Given the description of an element on the screen output the (x, y) to click on. 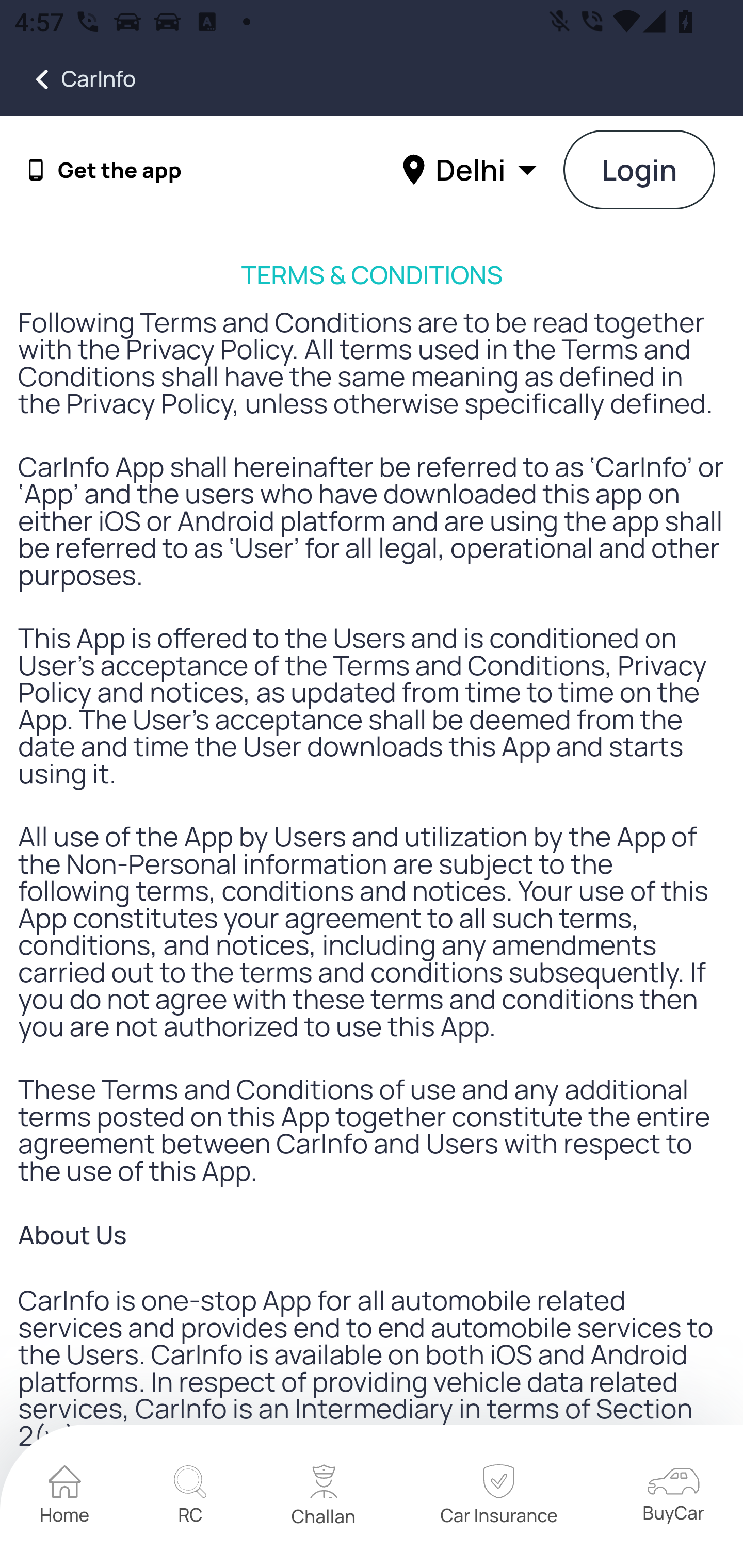
CarInfo (67, 79)
Login (639, 170)
Delhi (471, 169)
Get the app (119, 170)
home Challan home Challan (323, 1496)
home Home home Home (64, 1496)
home RC home RC (190, 1496)
home Car Insurance home Car Insurance (497, 1497)
home BuyCar home BuyCar (672, 1496)
